Given the description of an element on the screen output the (x, y) to click on. 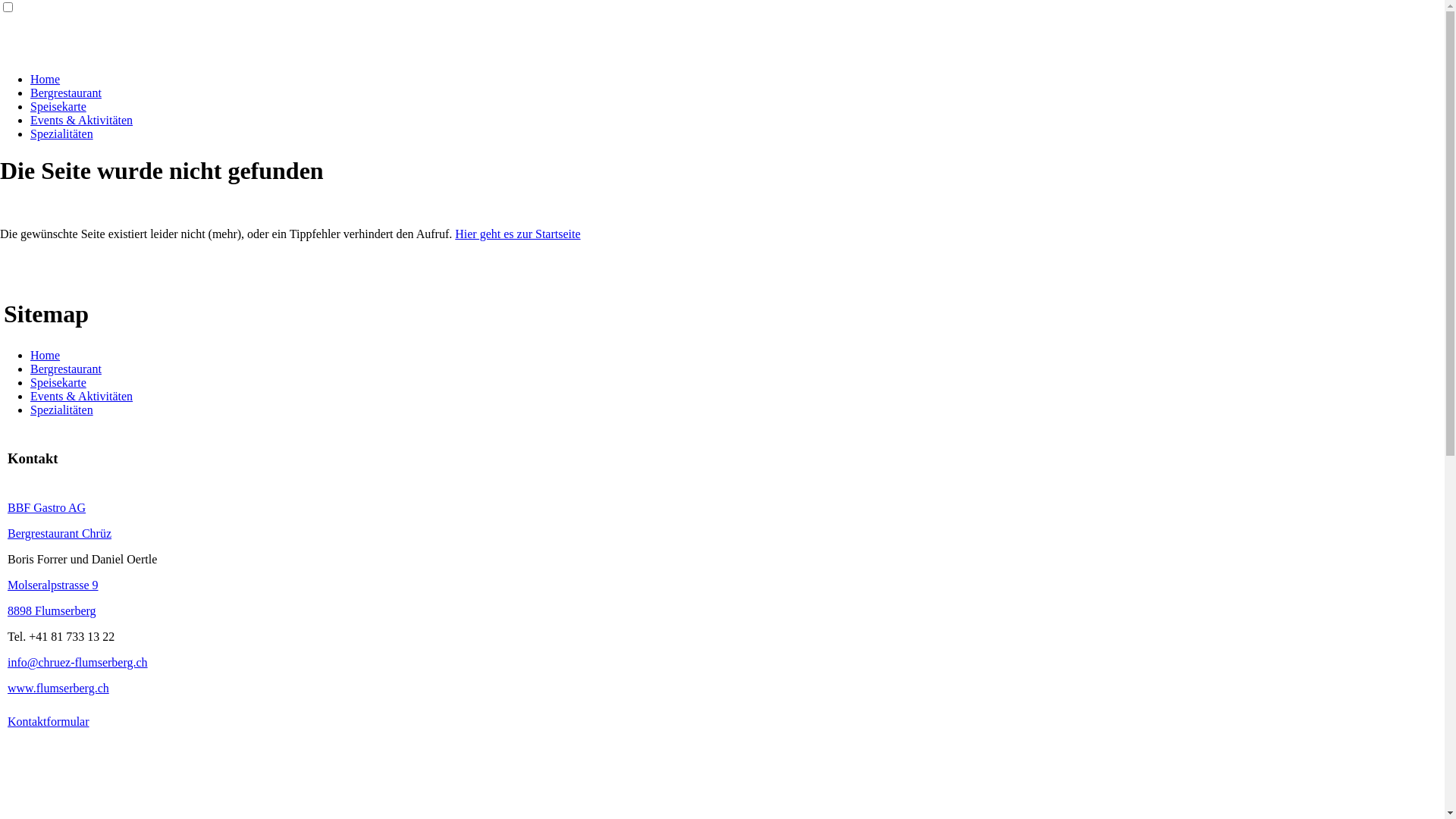
Speisekarte Element type: text (58, 382)
Home Element type: text (44, 354)
Kontaktformular Element type: text (48, 721)
Bergrestaurant Element type: text (65, 368)
Speisekarte Element type: text (58, 106)
info@chruez-flumserberg.ch Element type: text (77, 661)
8898 Flumserberg Element type: text (51, 610)
Hier geht es zur Startseite Element type: text (517, 233)
BBF Gastro AG Element type: text (46, 507)
Bergrestaurant Element type: text (65, 92)
www.flumserberg.ch Element type: text (58, 687)
Home Element type: text (44, 78)
Molseralpstrasse 9 Element type: text (52, 584)
